Given the description of an element on the screen output the (x, y) to click on. 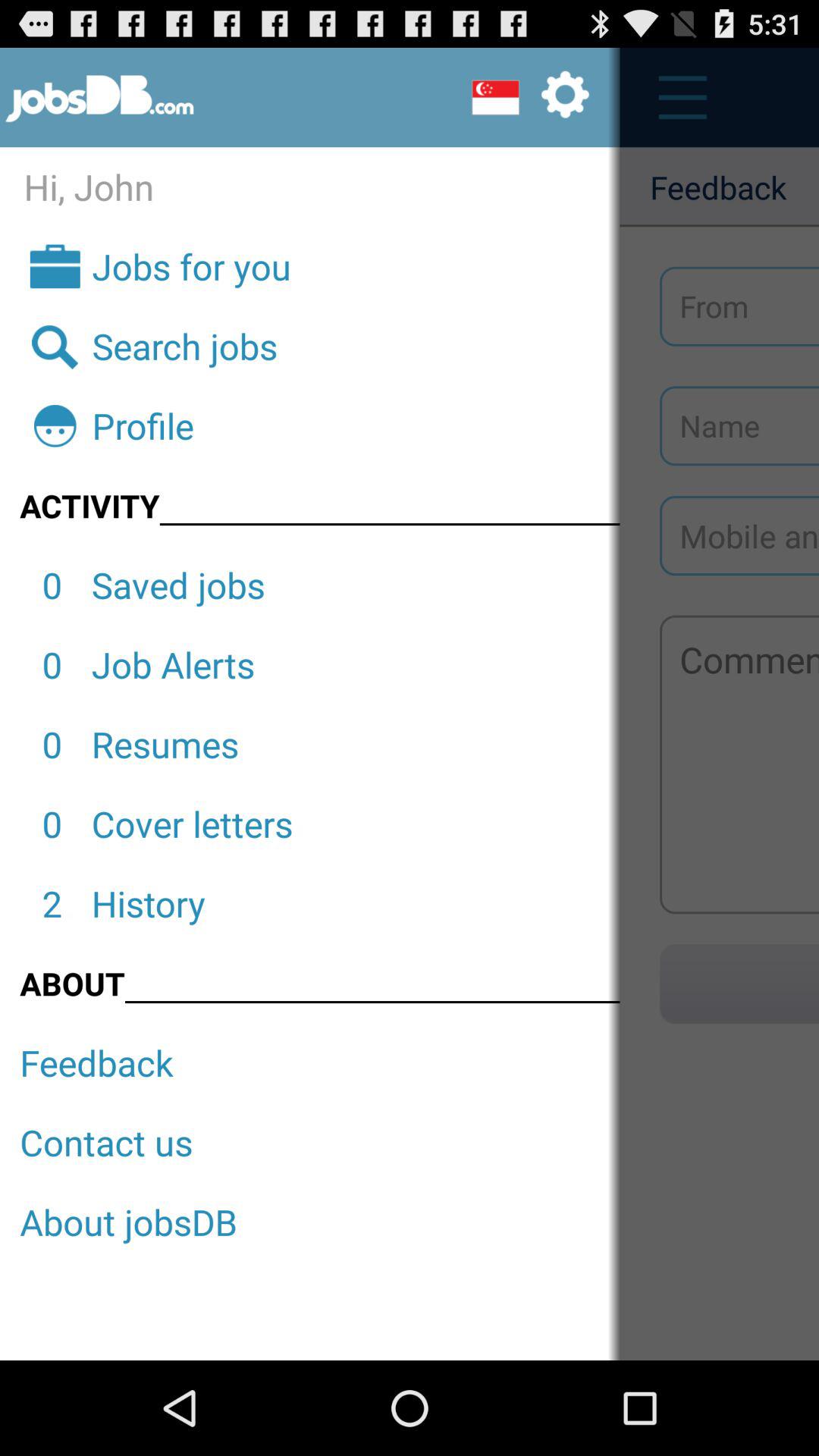
open settings (530, 97)
